Given the description of an element on the screen output the (x, y) to click on. 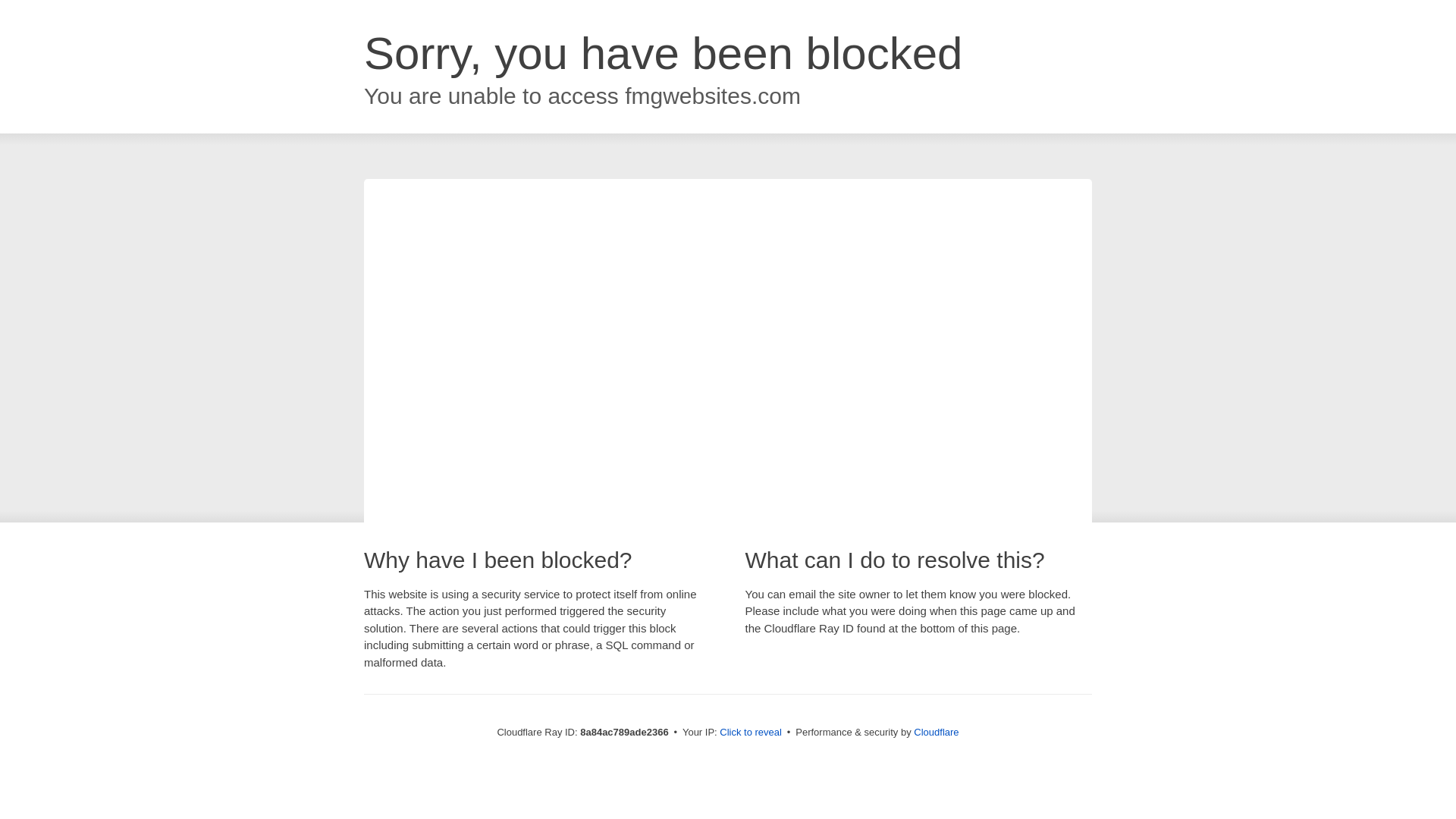
Click to reveal (750, 732)
Cloudflare (936, 731)
